Given the description of an element on the screen output the (x, y) to click on. 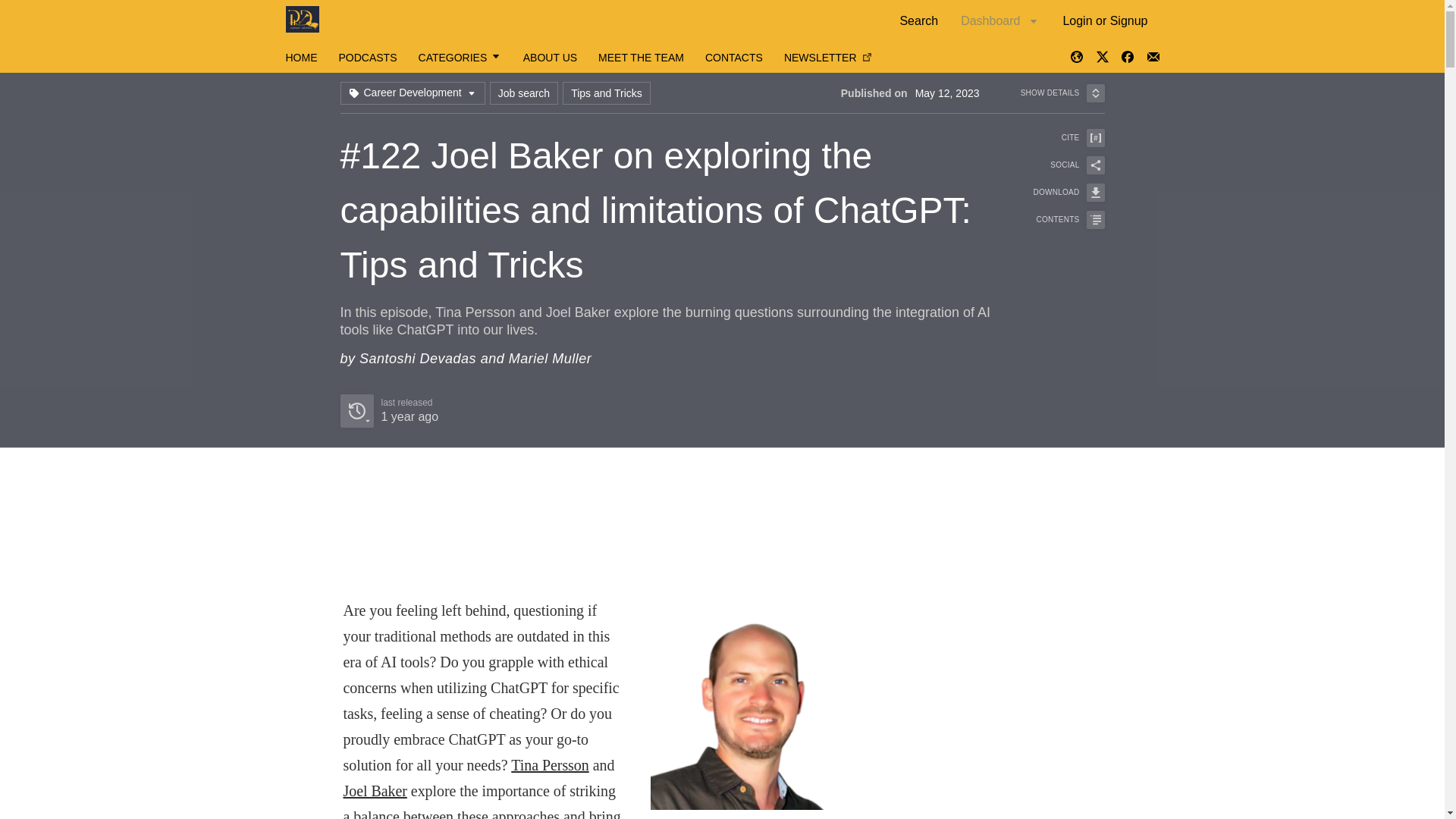
Tina Persson (549, 764)
ABOUT US (549, 57)
SOCIAL (1058, 165)
DOWNLOAD (388, 410)
CONTACTS (1058, 192)
Tips and Tricks (733, 57)
Mariel Muller (606, 92)
Career Development (550, 358)
MEET THE TEAM (411, 92)
